Given the description of an element on the screen output the (x, y) to click on. 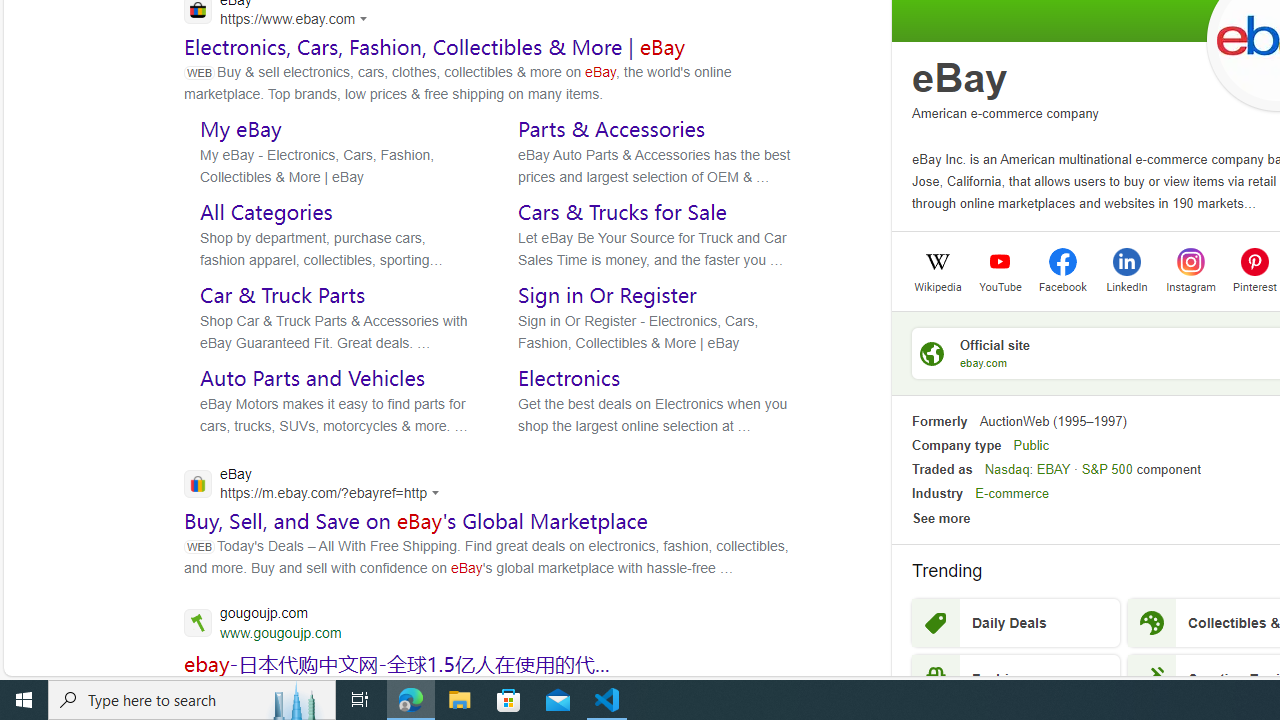
SERP,5721 (397, 663)
S&P 500 (1106, 469)
Wikipedia (937, 285)
eBay (959, 78)
Daily Deals (1015, 623)
Actions for this site (438, 493)
YouTube (1000, 285)
Electronics, Cars, Fashion, Collectibles & More | eBay (435, 46)
All Categories (265, 211)
Parts & Accessories (612, 128)
Formerly (939, 421)
